Given the description of an element on the screen output the (x, y) to click on. 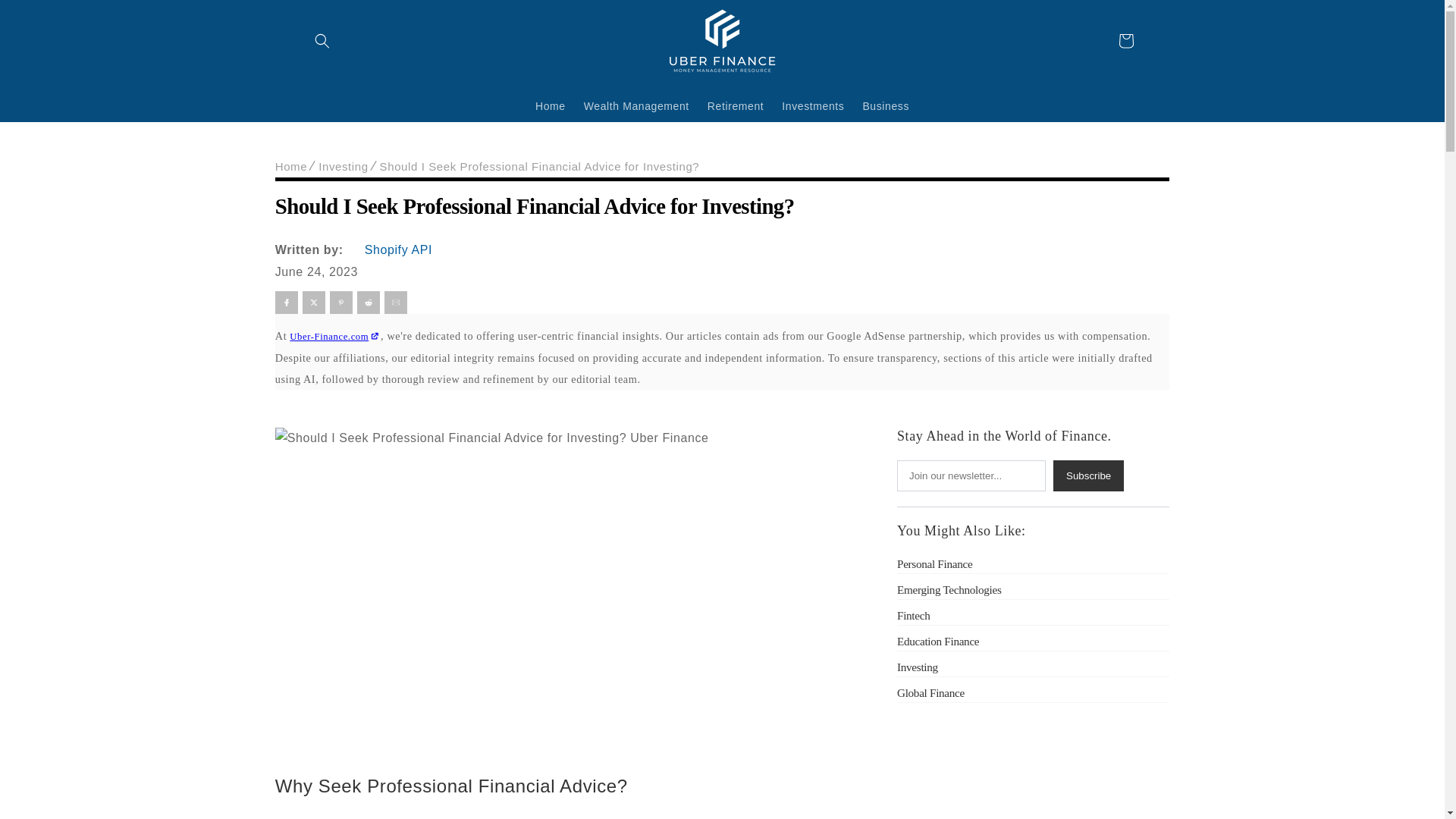
Home (550, 105)
Business (885, 105)
Uber-Finance.com (334, 336)
Investments (813, 105)
Should I Seek Professional Financial Advice for Investing? (540, 167)
Retirement (735, 105)
Wealth Management (636, 105)
Skip to content (45, 17)
Cart (1124, 40)
Investing (343, 167)
Should I Seek Professional Financial Advice for Investing? (722, 200)
Home (291, 167)
